Given the description of an element on the screen output the (x, y) to click on. 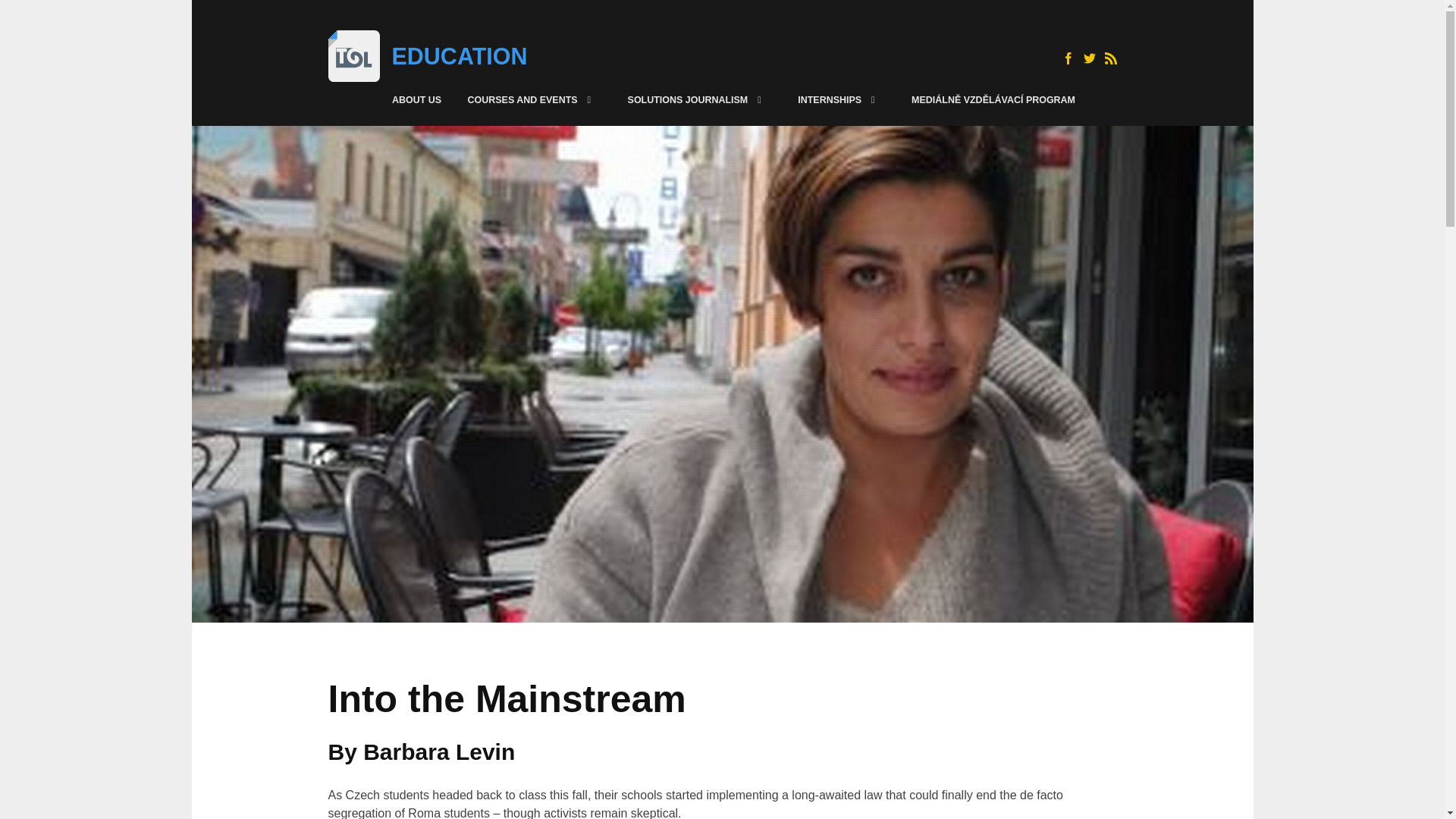
EDUCATION (459, 55)
COURSES AND EVENTS (534, 100)
ABOUT US (416, 99)
INTERNSHIPS (841, 100)
SOLUTIONS JOURNALISM (699, 100)
